Given the description of an element on the screen output the (x, y) to click on. 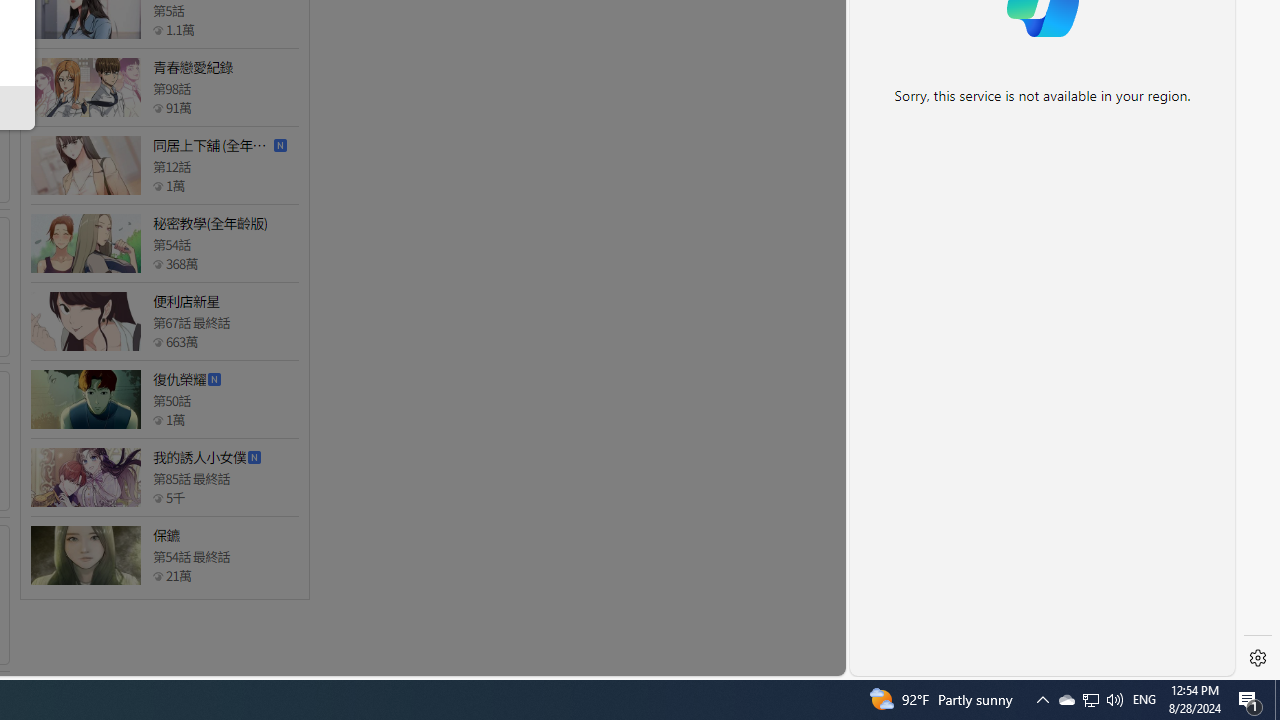
Class: epicon_starpoint (158, 575)
Class: thumb_img (85, 555)
